Given the description of an element on the screen output the (x, y) to click on. 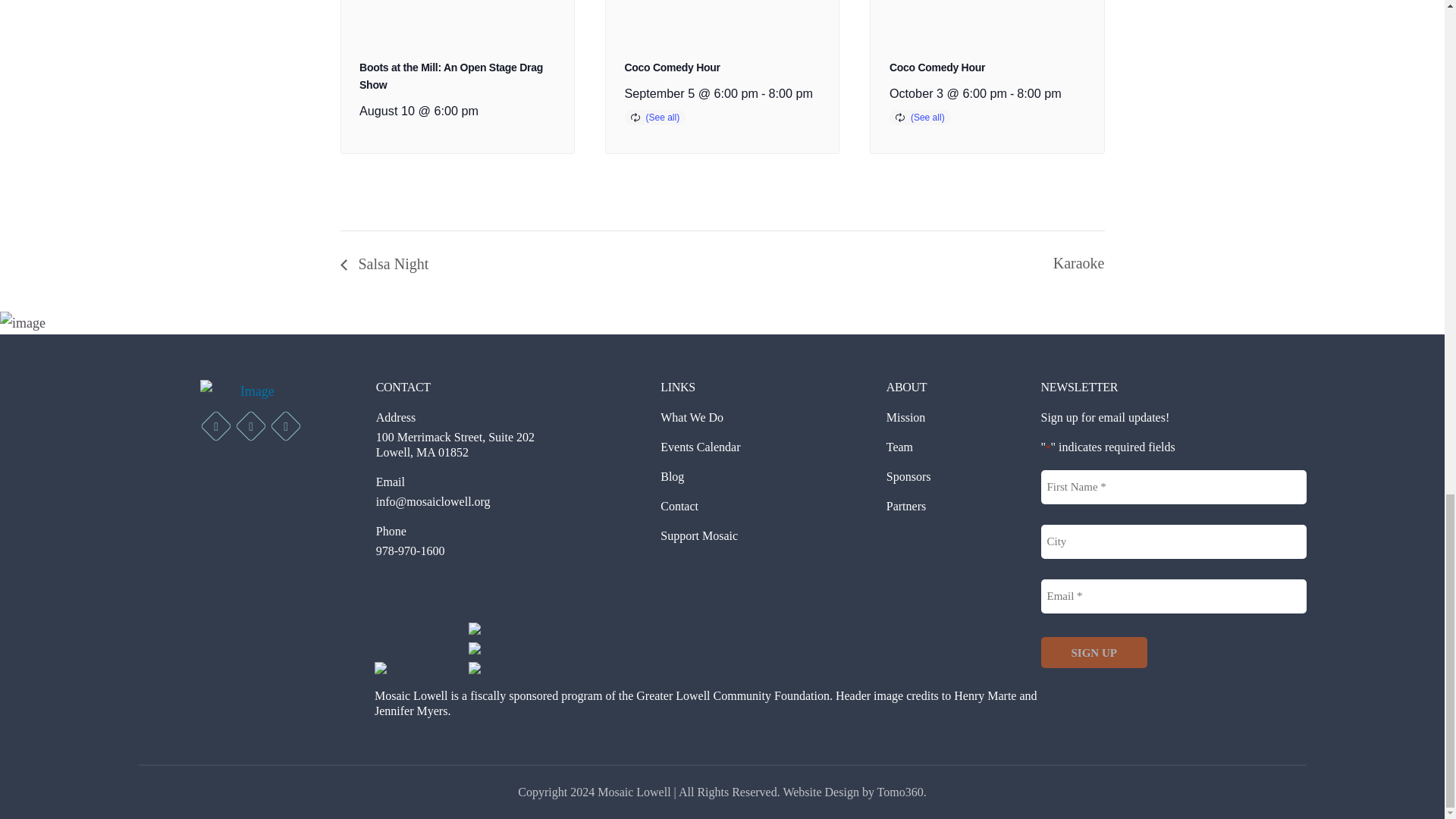
Coco Comedy Hour (672, 67)
Sign Up (1094, 652)
Boots at the Mill: An Open Stage Drag Show (451, 75)
